Given the description of an element on the screen output the (x, y) to click on. 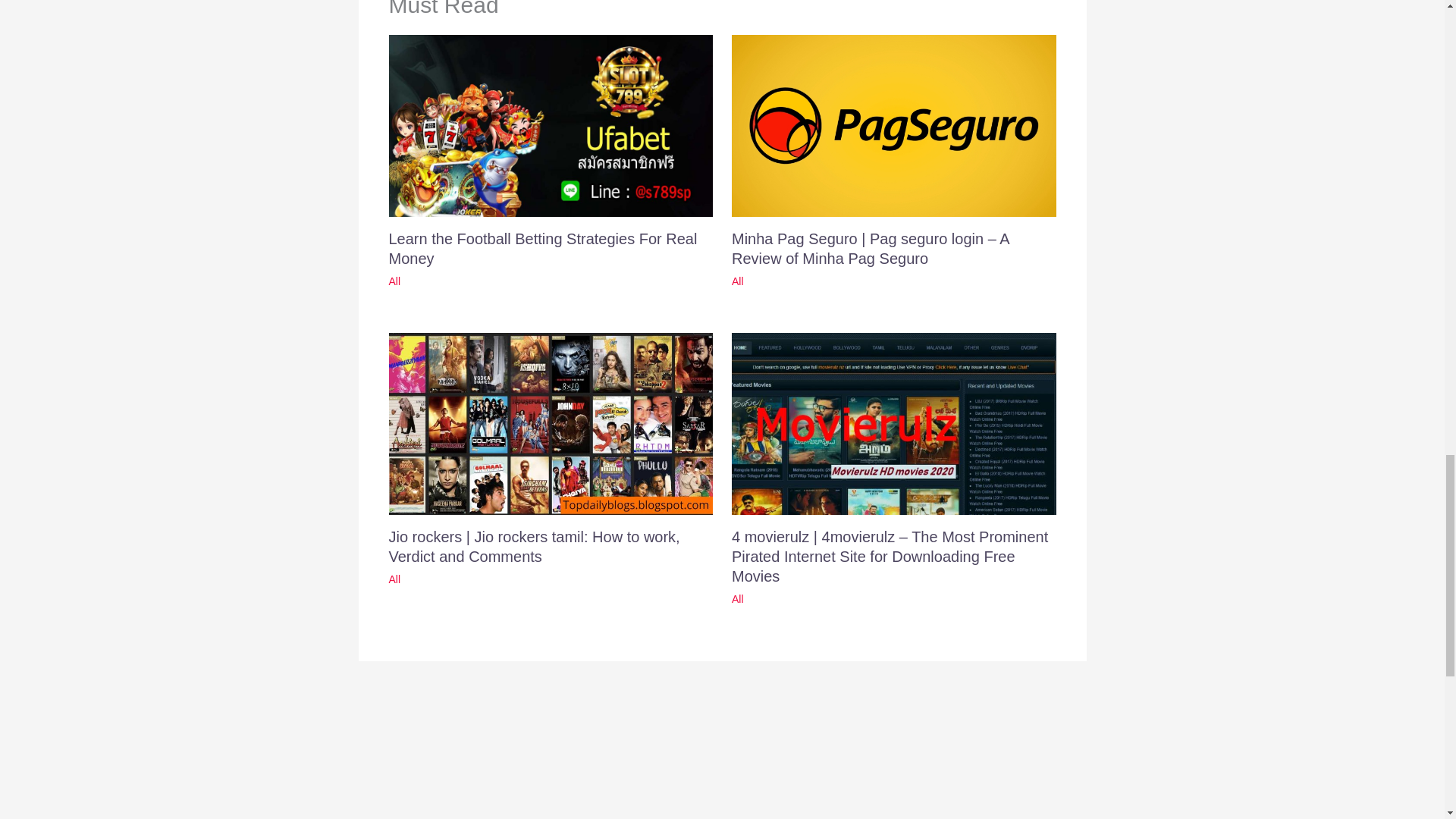
All (738, 281)
All (394, 579)
All (738, 598)
Learn the Football Betting Strategies For Real Money (542, 248)
All (394, 281)
